Given the description of an element on the screen output the (x, y) to click on. 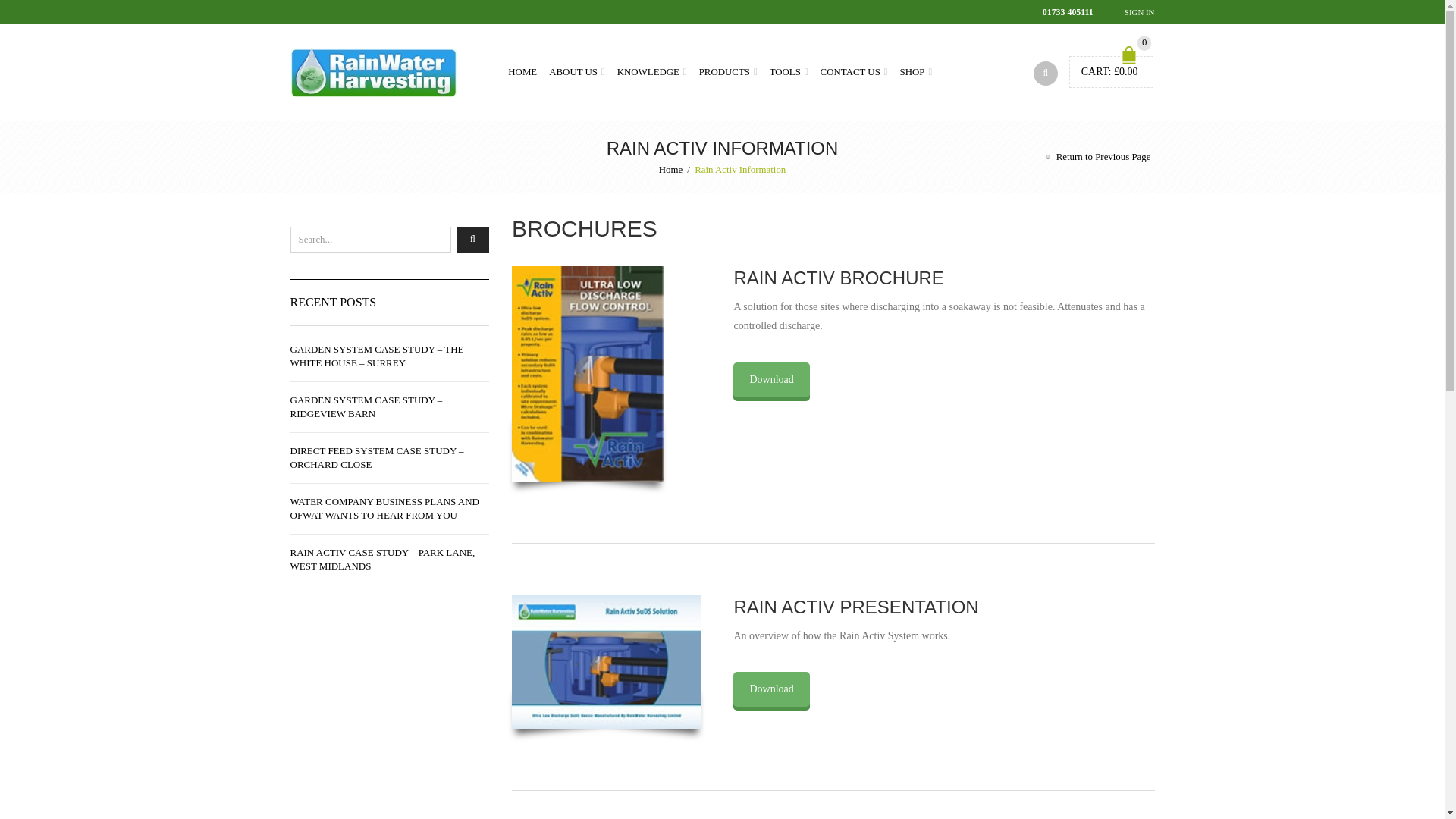
ra-presentation (606, 661)
